Given the description of an element on the screen output the (x, y) to click on. 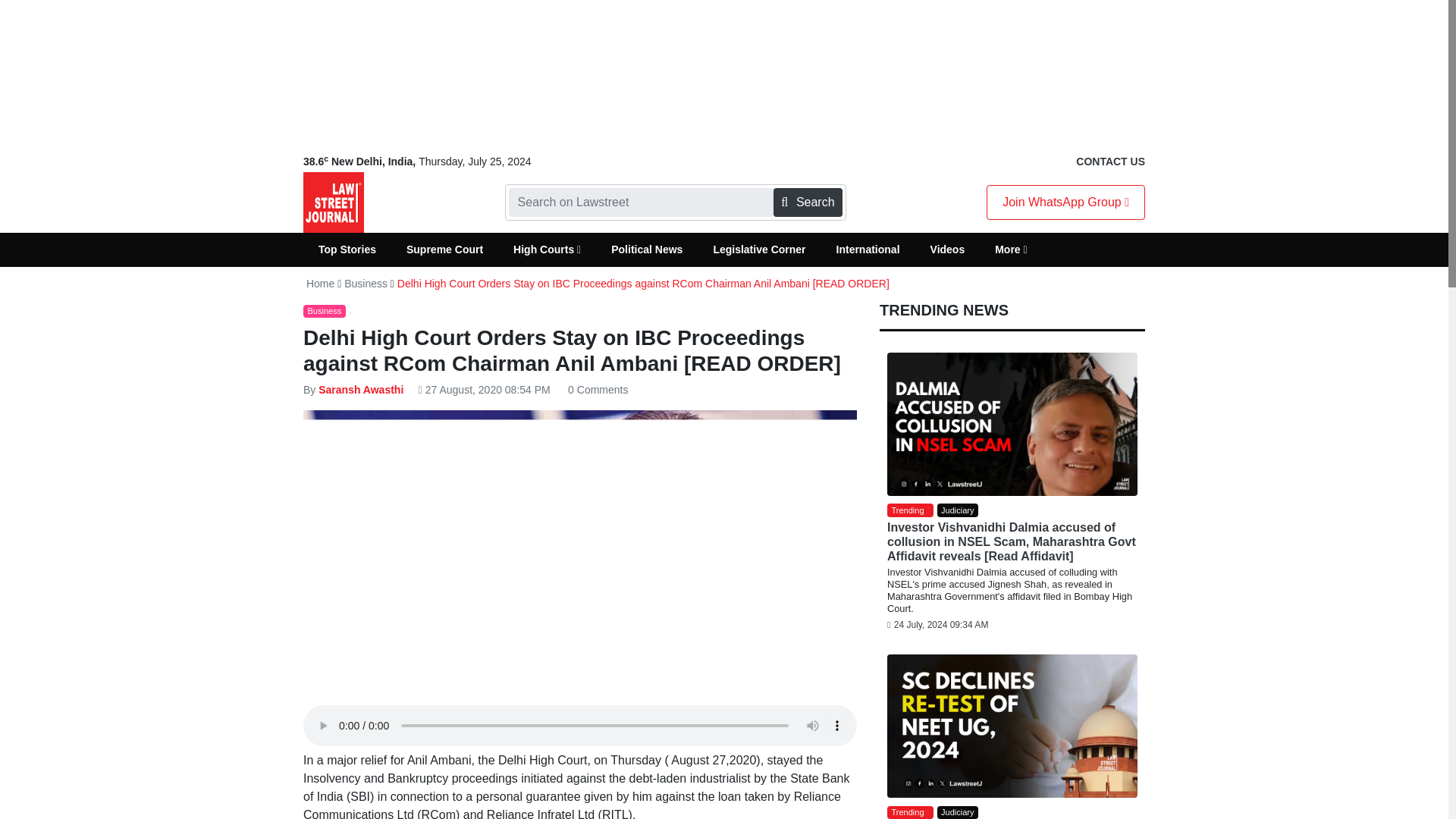
CONTACT US (1109, 161)
Join WhatsApp Group (1065, 202)
LawStreet Journal (333, 201)
International (868, 249)
More (1010, 249)
Videos (947, 249)
Supreme Court (444, 249)
Political News (646, 249)
Top Stories (346, 249)
Search (807, 202)
High Courts (546, 249)
Legislative Corner (759, 249)
